Given the description of an element on the screen output the (x, y) to click on. 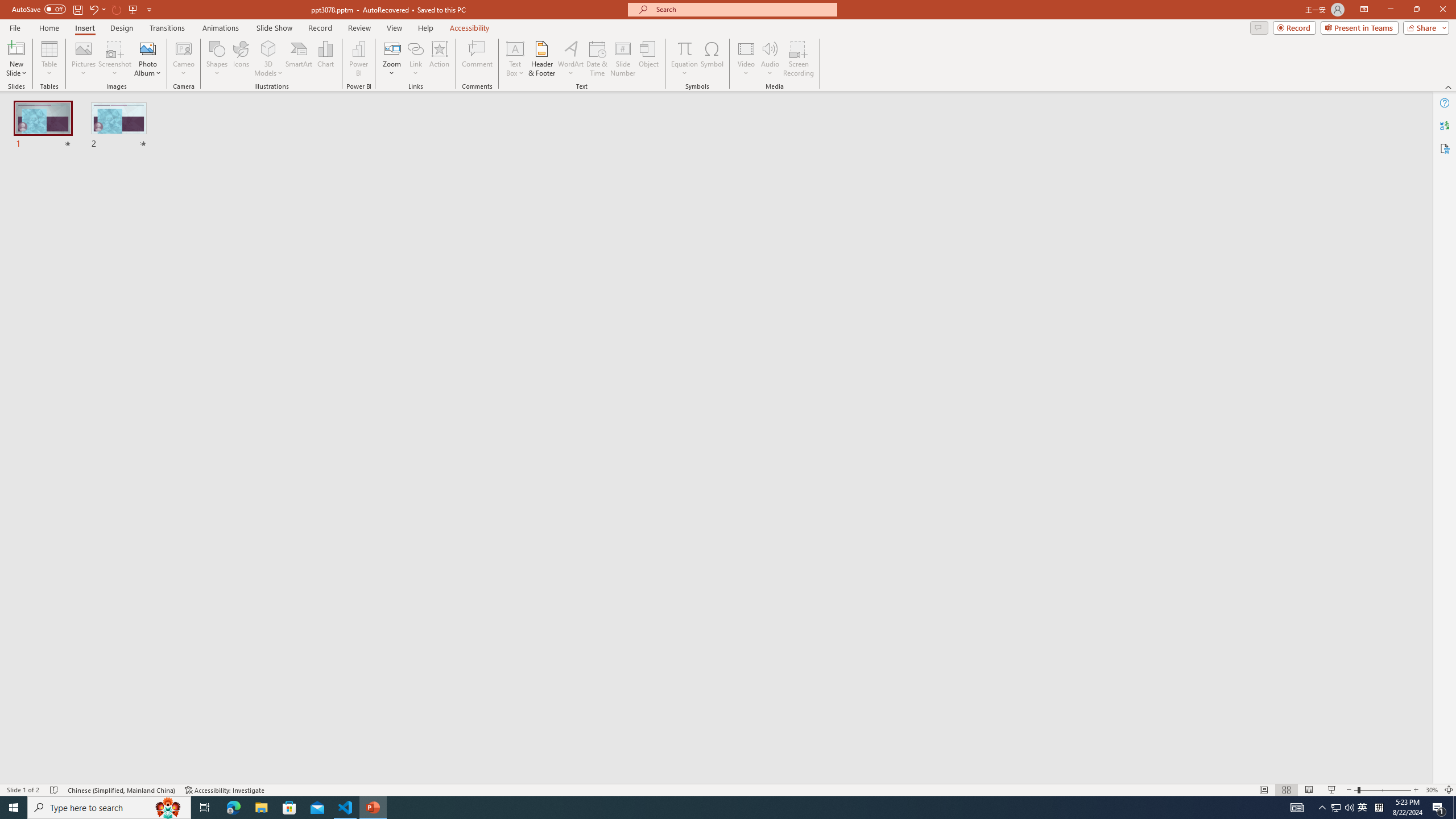
Accounts - Sign in requested (76, 690)
Output (Ctrl+Shift+U) (395, 533)
